Given the description of an element on the screen output the (x, y) to click on. 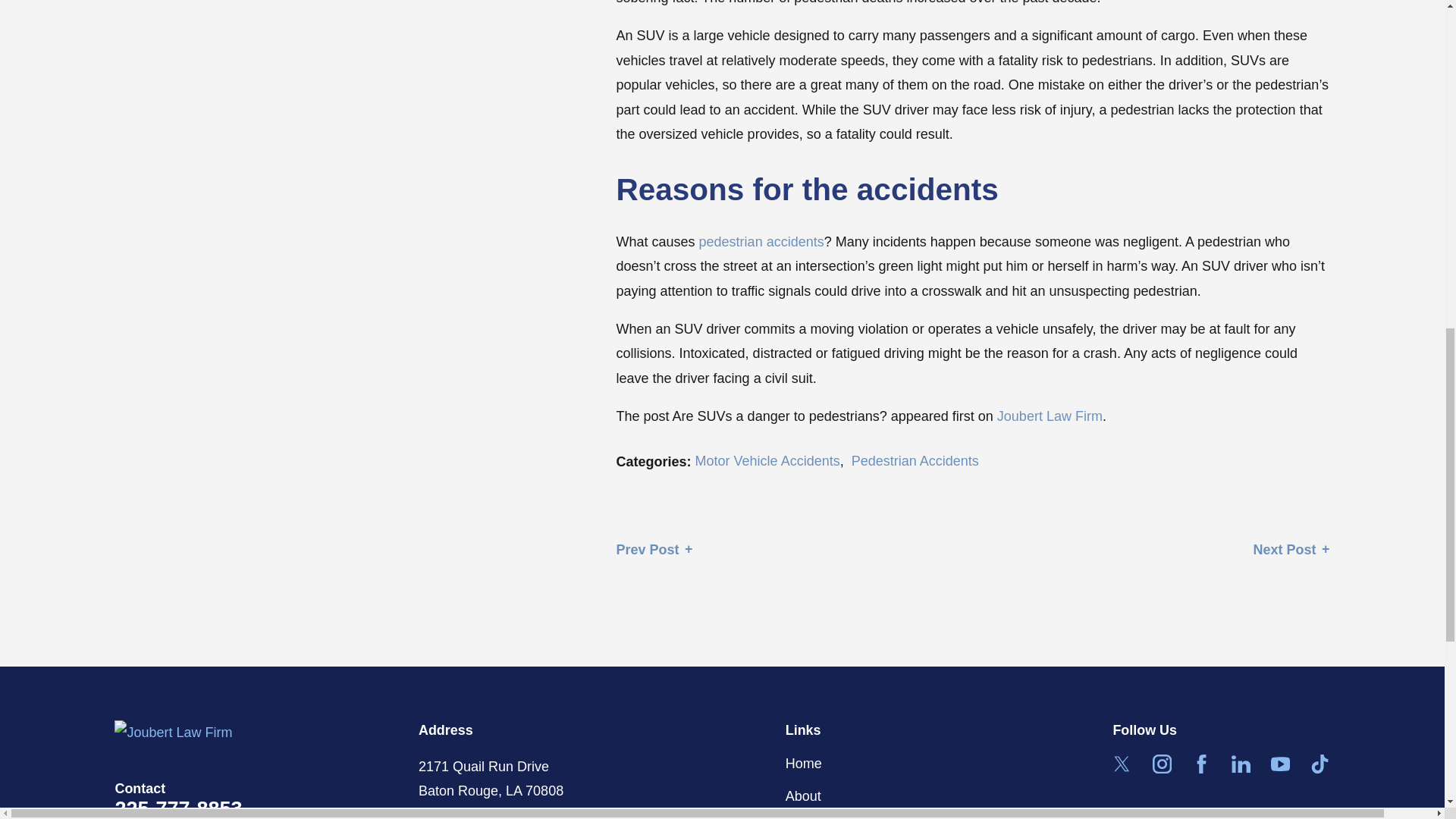
Instagram (1162, 763)
YouTube (1280, 763)
Facebook (1201, 763)
TikTok (1319, 763)
Twitter (1121, 763)
LinkedIn (1240, 763)
Home (267, 732)
